Given the description of an element on the screen output the (x, y) to click on. 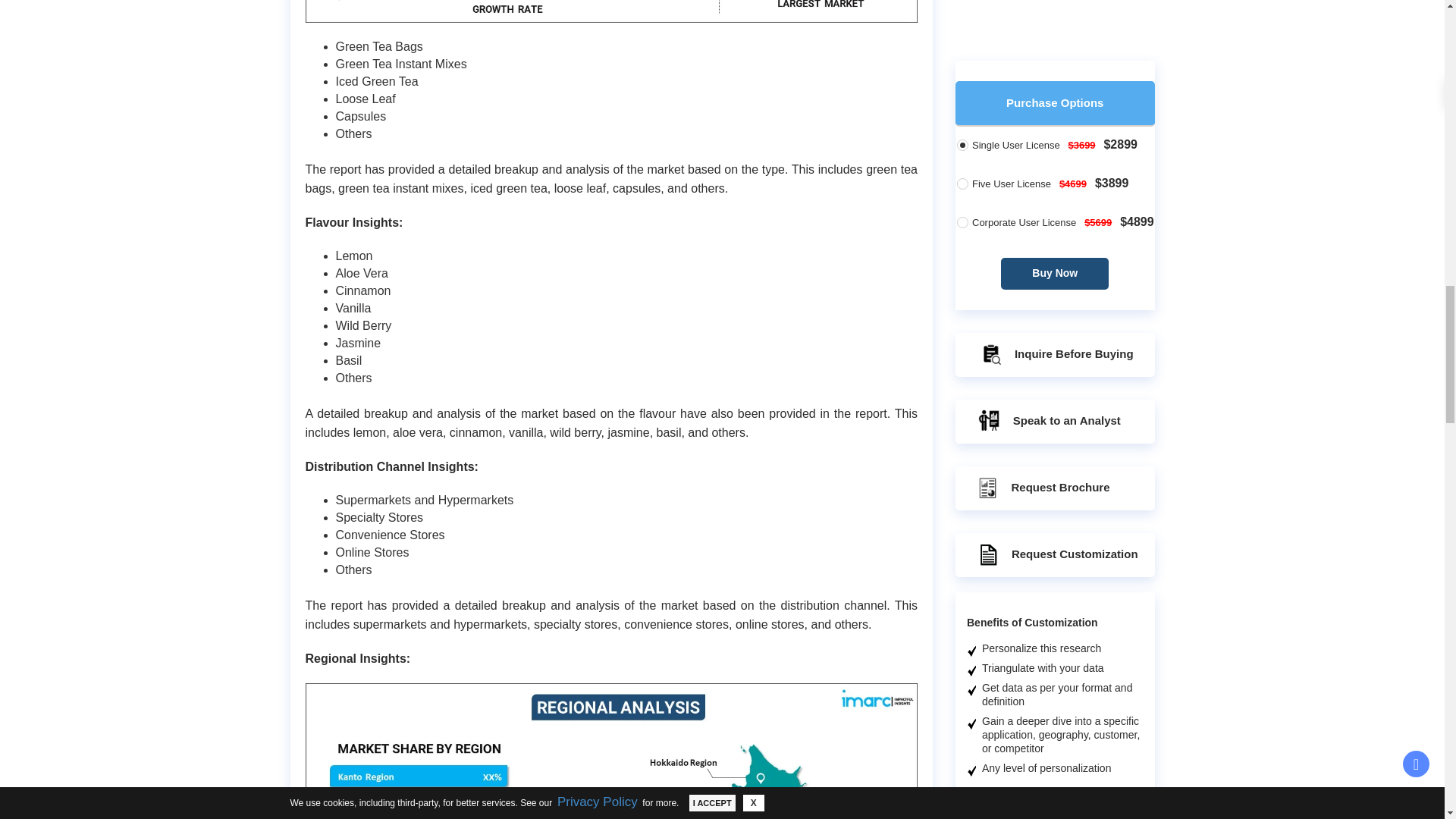
Know more (1081, 23)
